Given the description of an element on the screen output the (x, y) to click on. 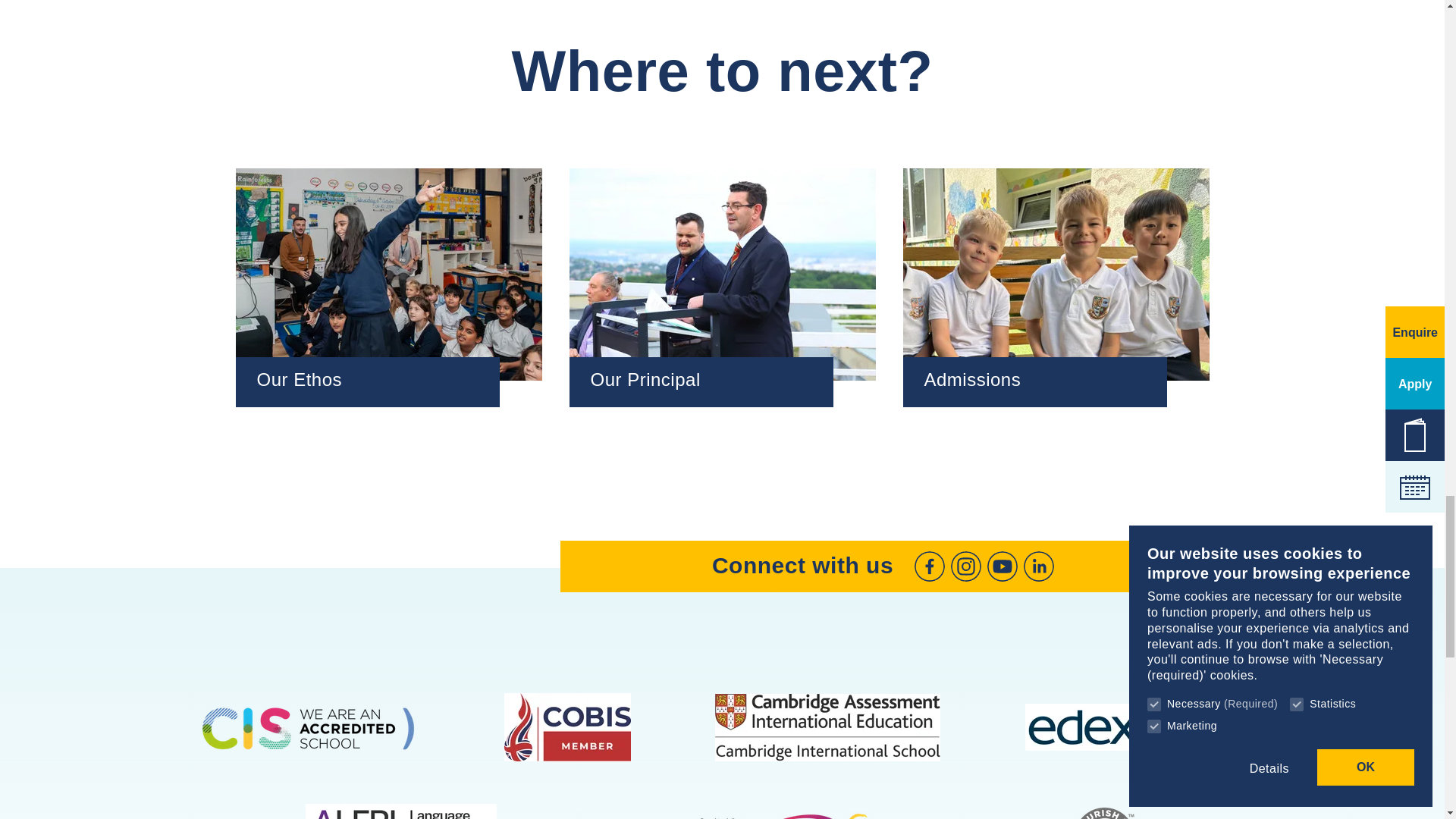
Connect with us on Facebook (929, 566)
Subscribe on Youtube (1002, 566)
Follow us on Instagram (965, 566)
Follow us on LinkedIn (1038, 566)
